Given the description of an element on the screen output the (x, y) to click on. 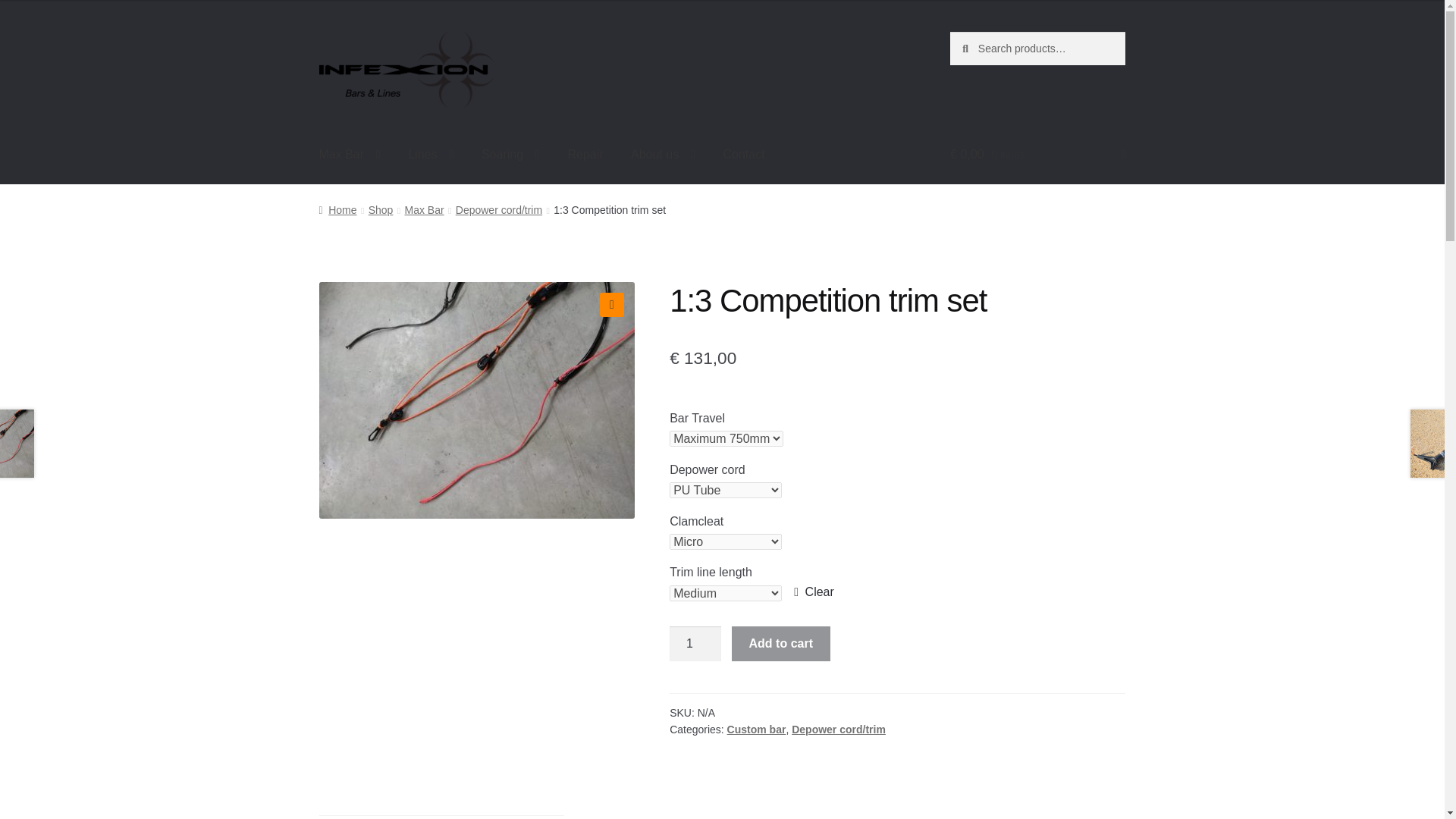
Max Bar (350, 154)
IMG-20210316-WA0005.jpg (476, 399)
Lines (430, 154)
1 (694, 643)
View your shopping cart (1037, 154)
